Given the description of an element on the screen output the (x, y) to click on. 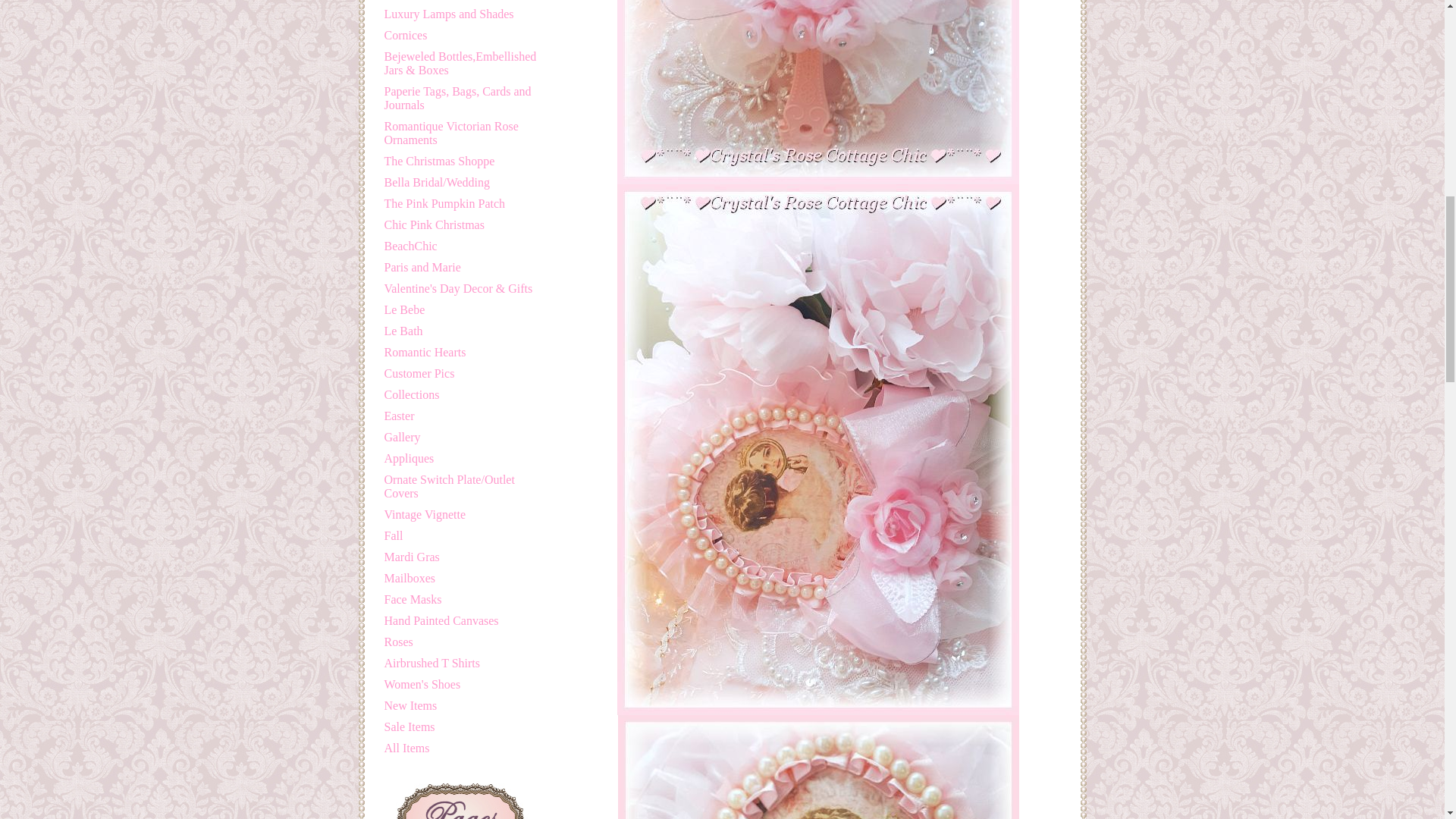
The Pink Pumpkin Patch (444, 203)
Easter (398, 416)
Face Masks (412, 599)
BeachChic (410, 246)
Paris and Marie (422, 267)
Customer Pics (419, 373)
Luxury Lamps and Shades (448, 14)
Vintage Vignette (424, 514)
Victorian Lady in Pink Hand Mirror...Free Shipping (818, 92)
Cornices (405, 35)
